Given the description of an element on the screen output the (x, y) to click on. 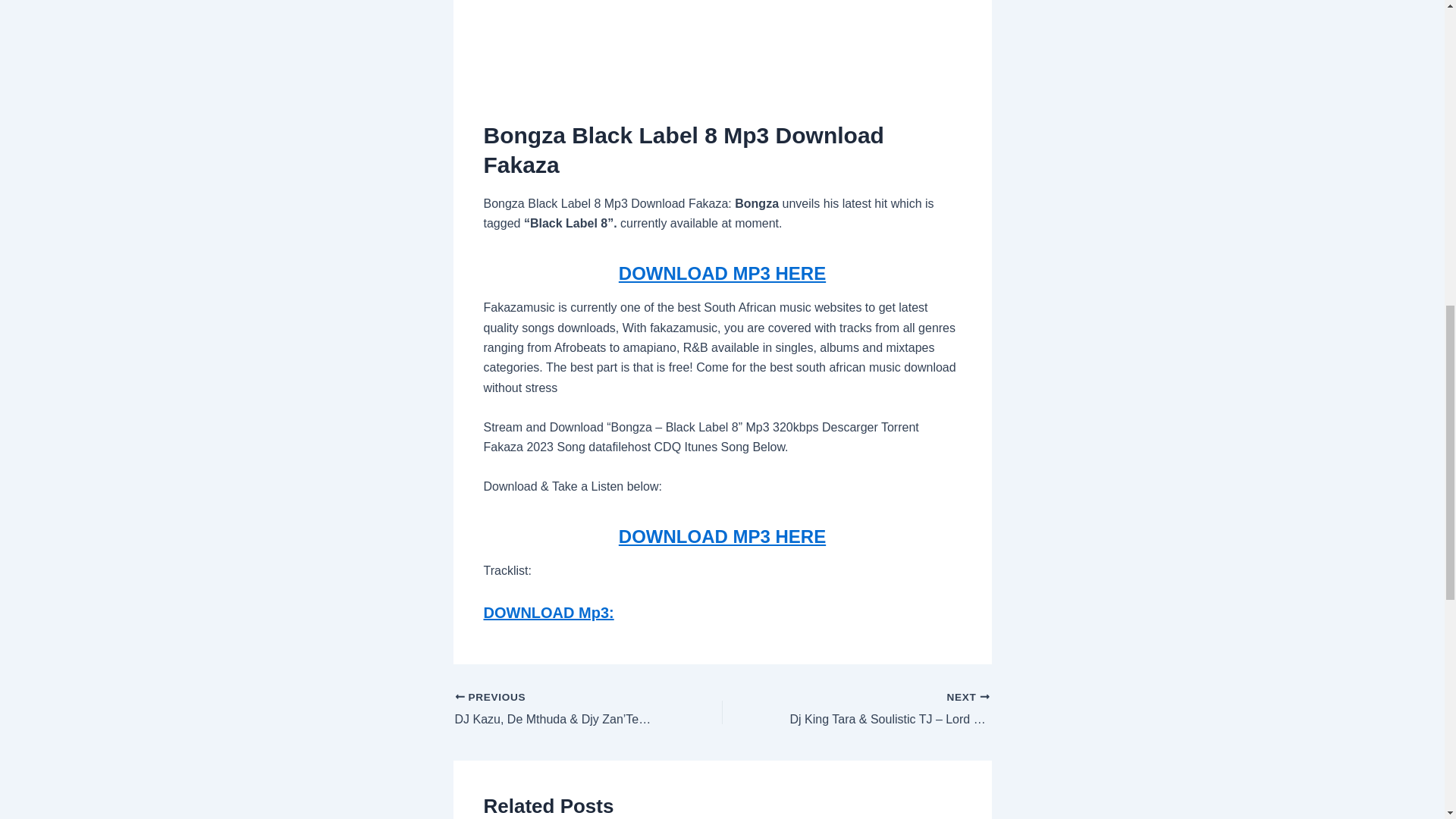
DOWNLOAD MP3 HERE (721, 536)
DOWNLOAD Mp3: (548, 612)
Advertisement (721, 43)
DOWNLOAD MP3 HERE (721, 272)
